Given the description of an element on the screen output the (x, y) to click on. 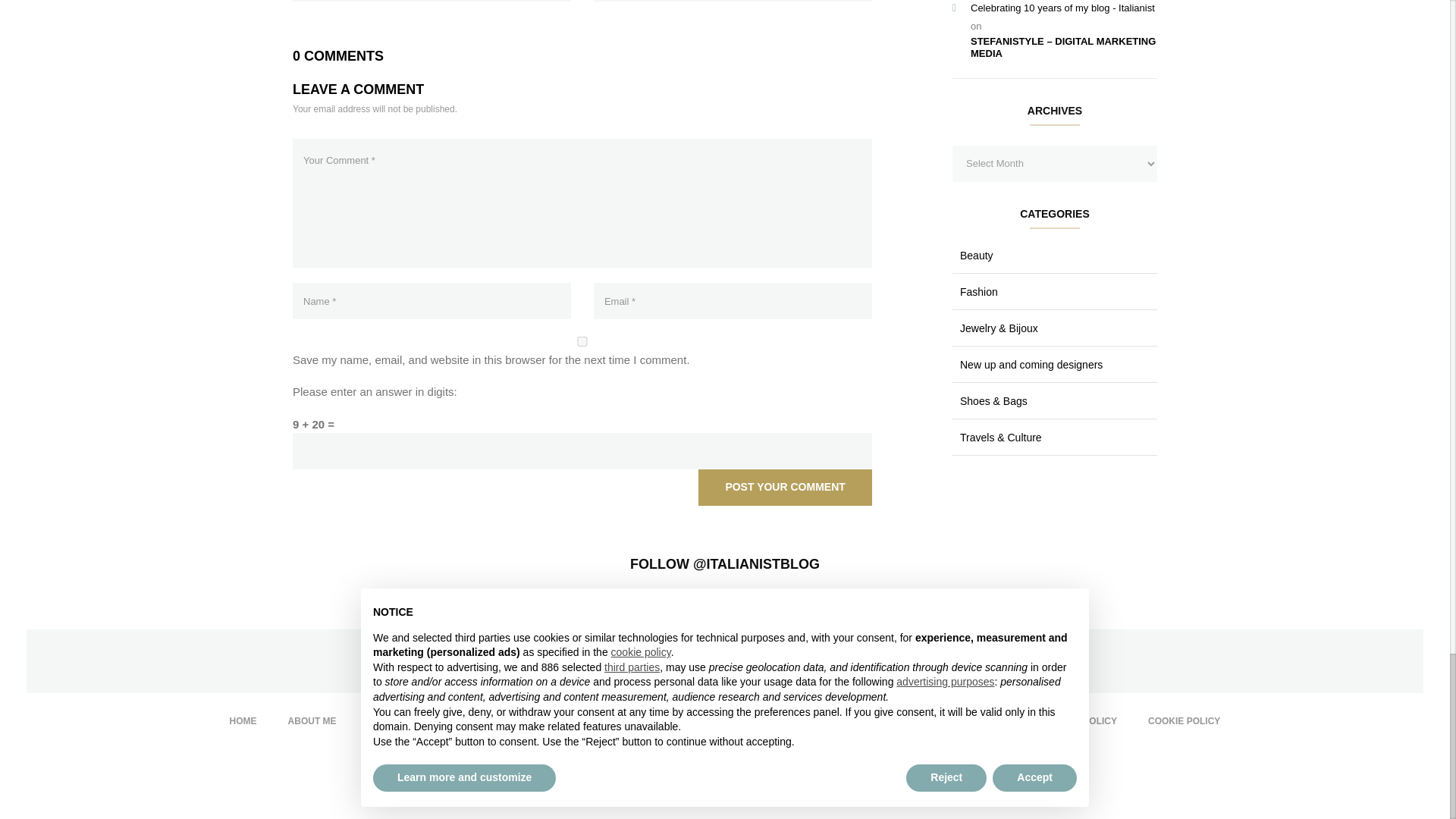
yes (582, 341)
Post Your Comment (784, 487)
